Given the description of an element on the screen output the (x, y) to click on. 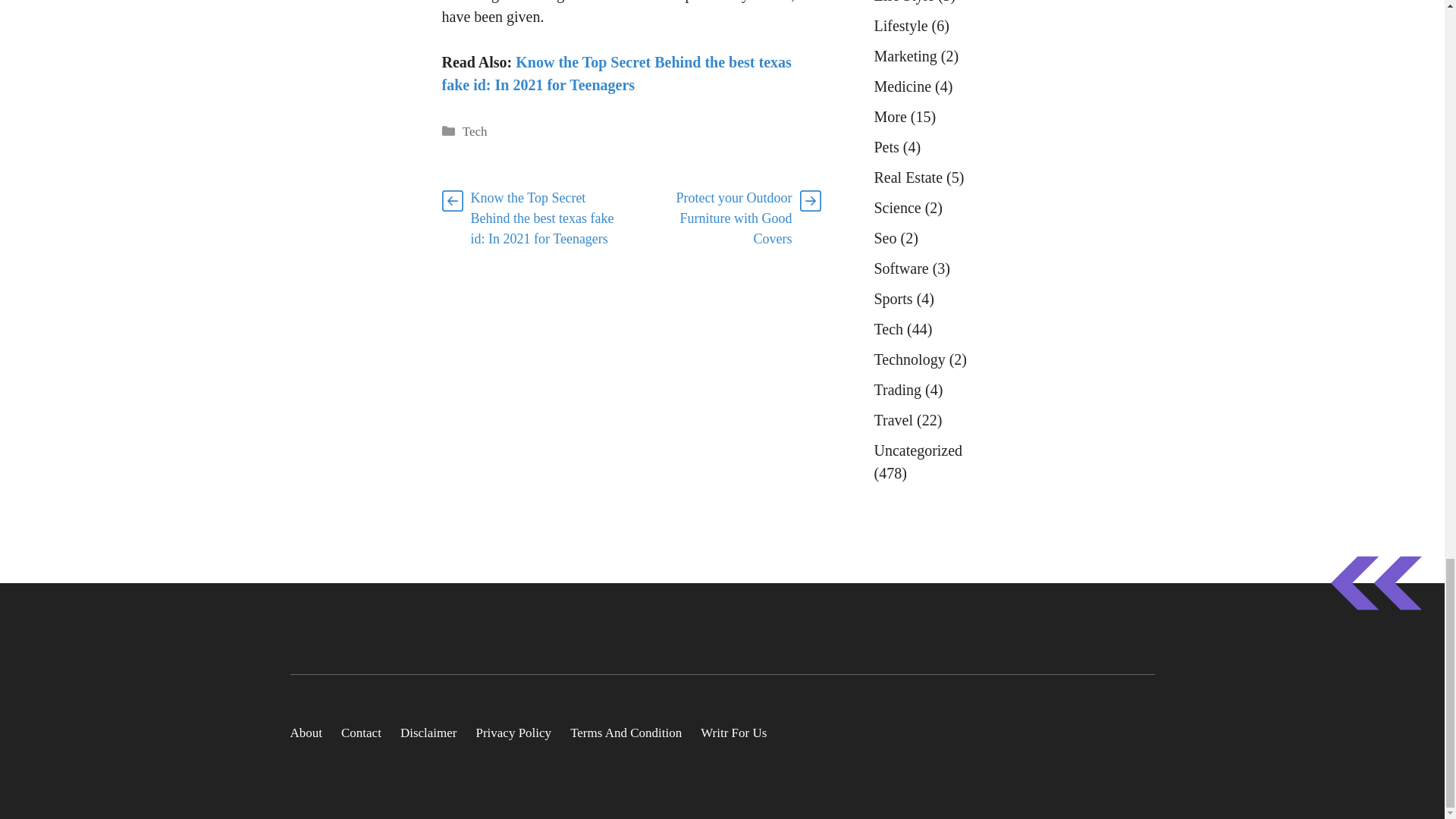
Tech (475, 131)
Protect your Outdoor Furniture with Good Covers (734, 218)
